Given the description of an element on the screen output the (x, y) to click on. 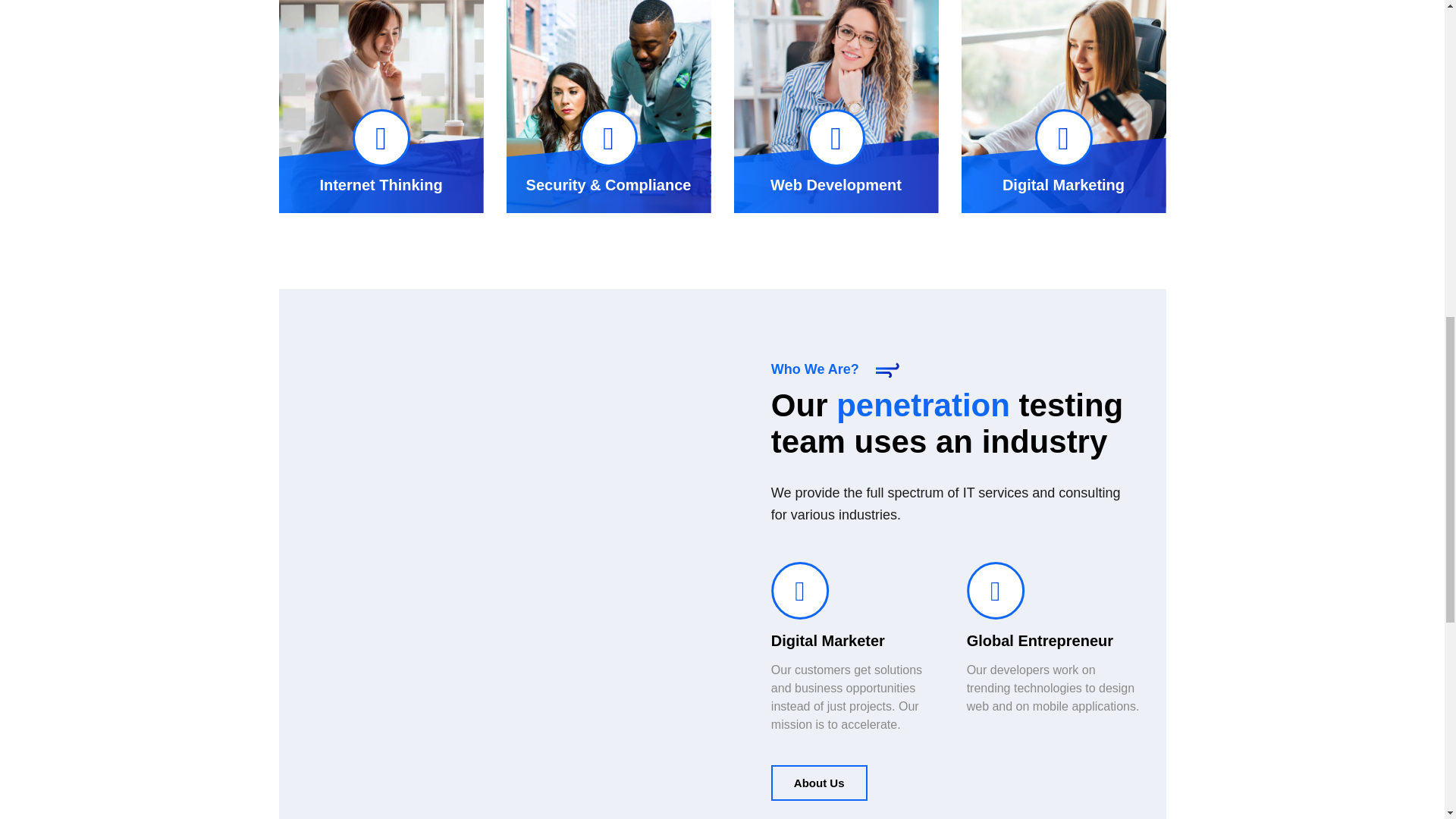
service1 (1063, 106)
service4 (381, 106)
service2 (836, 106)
service3 (608, 106)
